Given the description of an element on the screen output the (x, y) to click on. 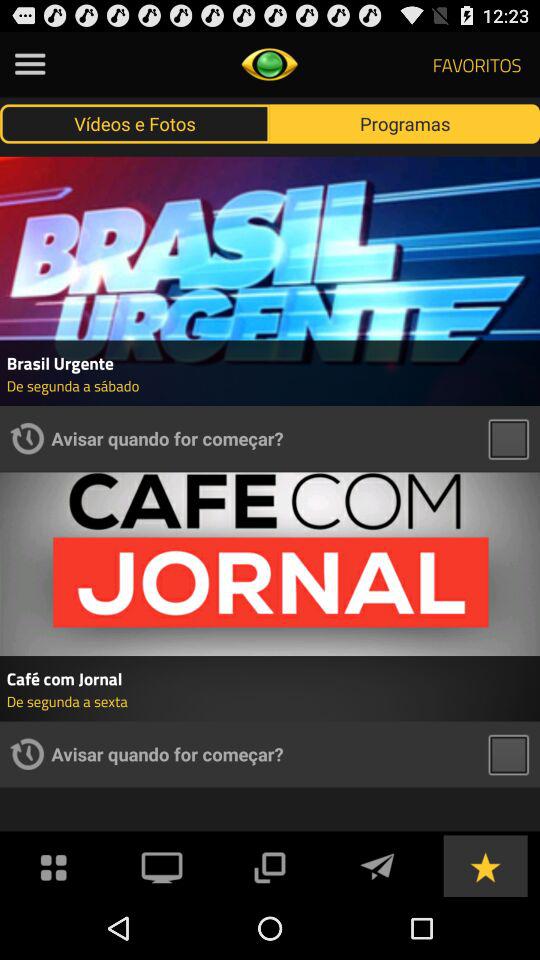
cast on tv (162, 865)
